Given the description of an element on the screen output the (x, y) to click on. 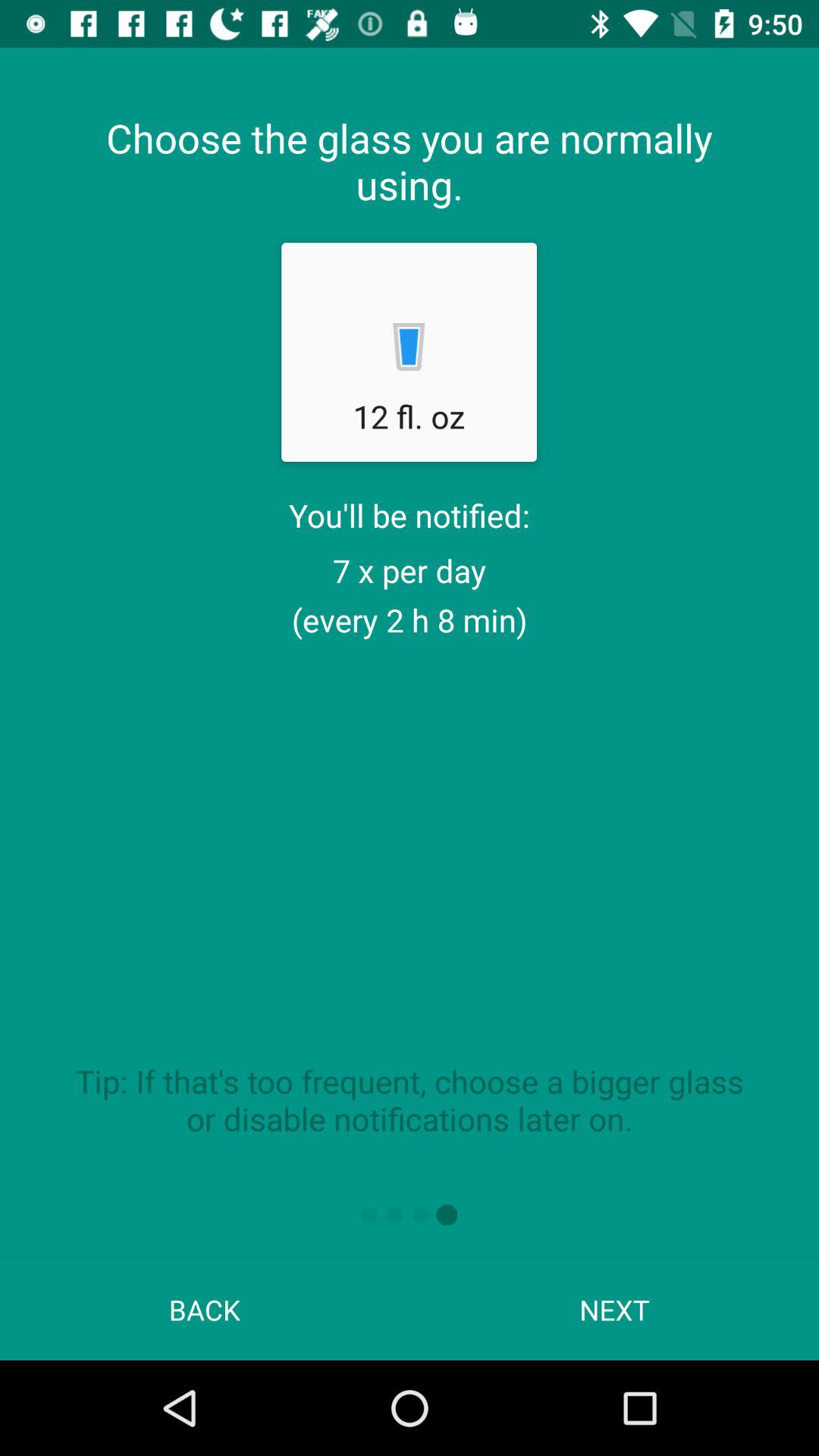
tap back at the bottom left corner (204, 1309)
